Given the description of an element on the screen output the (x, y) to click on. 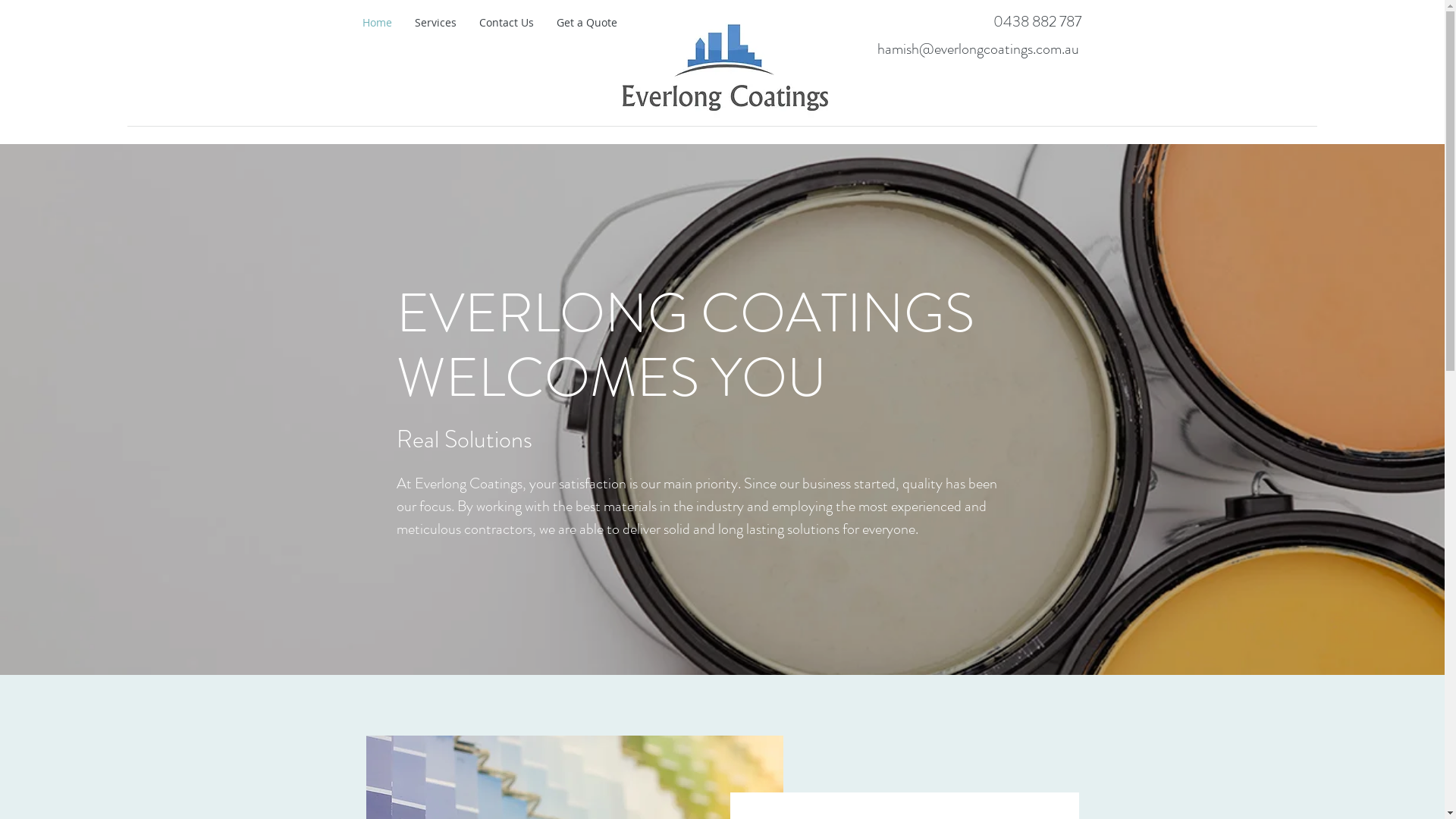
Get a Quote Element type: text (585, 22)
hamish@everlongcoatings.com.au Element type: text (977, 48)
Home Element type: text (376, 22)
Contact Us Element type: text (505, 22)
Services Element type: text (435, 22)
